Given the description of an element on the screen output the (x, y) to click on. 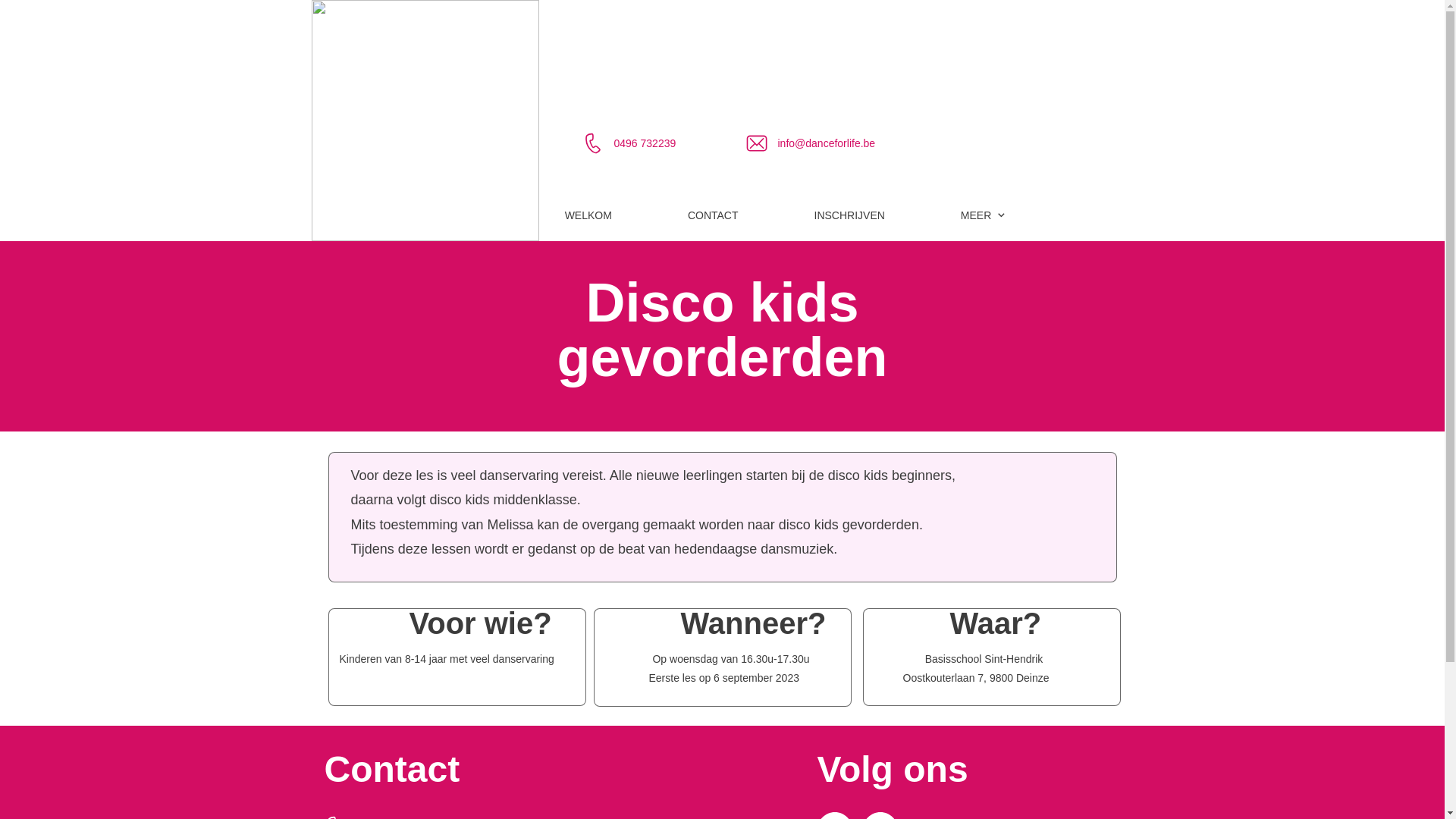
WELKOM Element type: text (588, 216)
INSCHRIJVEN Element type: text (849, 216)
CONTACT Element type: text (712, 216)
info@danceforlife.be Element type: text (826, 143)
MEER Element type: text (983, 216)
0496 732239 Element type: text (645, 143)
